Given the description of an element on the screen output the (x, y) to click on. 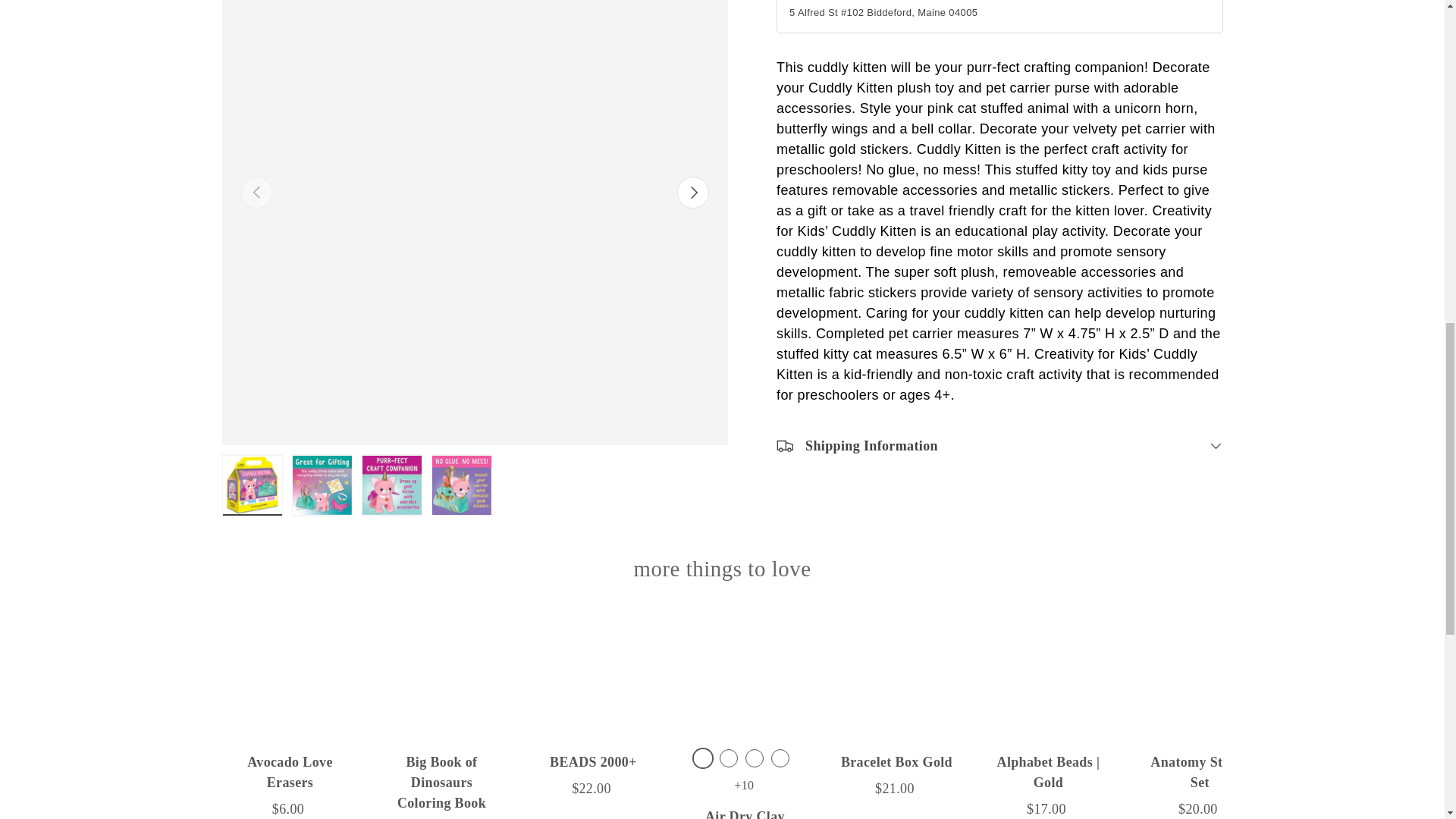
Orange (780, 758)
Hot Pink (753, 758)
Dark Purple (702, 758)
Green (728, 758)
